Given the description of an element on the screen output the (x, y) to click on. 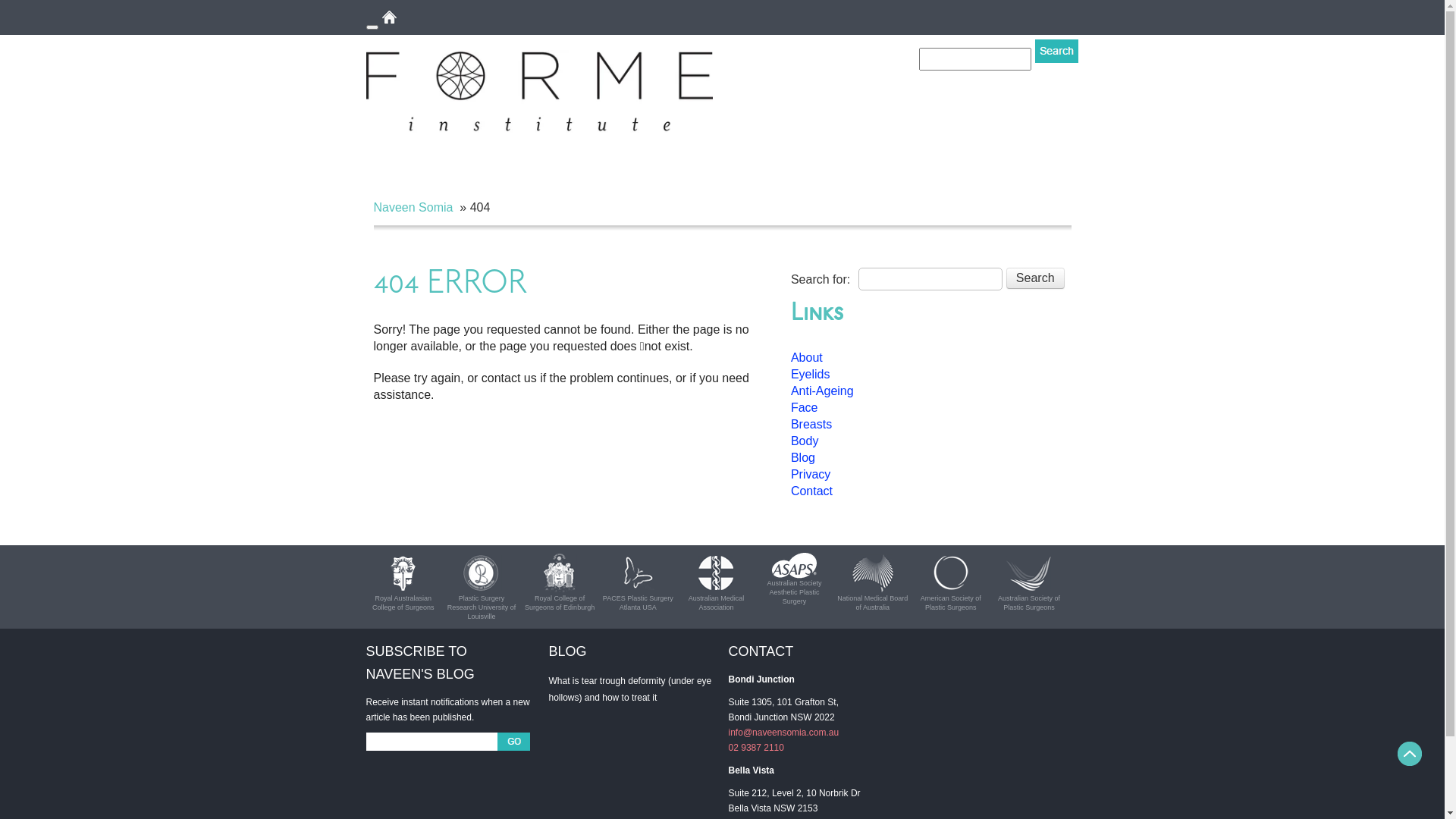
Privacy Element type: text (810, 473)
Eyelids Element type: text (810, 373)
Blog Element type: text (802, 457)
Australian Society of Plastic Surgeons Element type: hover (1028, 572)
02 9387 2110 Element type: text (756, 747)
Search Element type: text (1035, 277)
American Society of Plastic Surgeons Element type: hover (950, 572)
National Medical Board of Australia Element type: hover (872, 572)
info@naveensomia.com.au Element type: text (783, 732)
back-top.png Element type: hover (1409, 753)
Royal College of Surgeons of Edinburgh Element type: hover (559, 572)
Anti-Ageing Element type: text (821, 390)
Australian Medical Association Element type: hover (715, 572)
Face Element type: text (804, 407)
HOME Element type: text (407, 17)
Body Element type: text (804, 440)
Subscribe me Element type: text (513, 741)
Plastic Surgery Research University of Louisville Element type: hover (480, 572)
Naveen Somia Element type: text (412, 206)
Royal Australasian College of Surgeons Element type: hover (402, 572)
Contact Element type: text (811, 490)
Australian Society Aesthetic Plastic Surgery Element type: hover (793, 565)
About Element type: text (806, 357)
PACES Plastic Surgery Atlanta USA Element type: hover (637, 572)
Breasts Element type: text (810, 423)
